Given the description of an element on the screen output the (x, y) to click on. 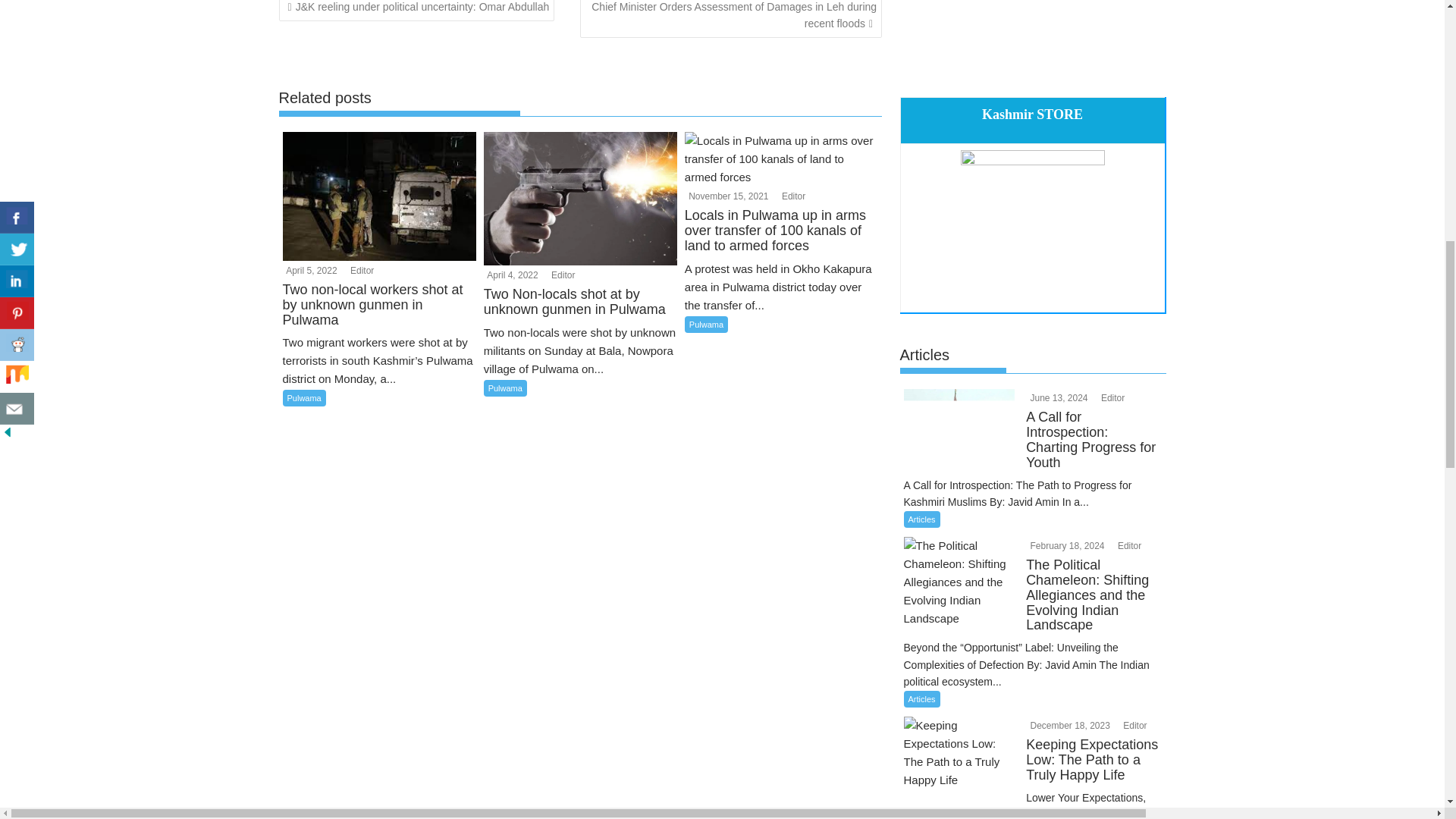
Editor (360, 270)
